Given the description of an element on the screen output the (x, y) to click on. 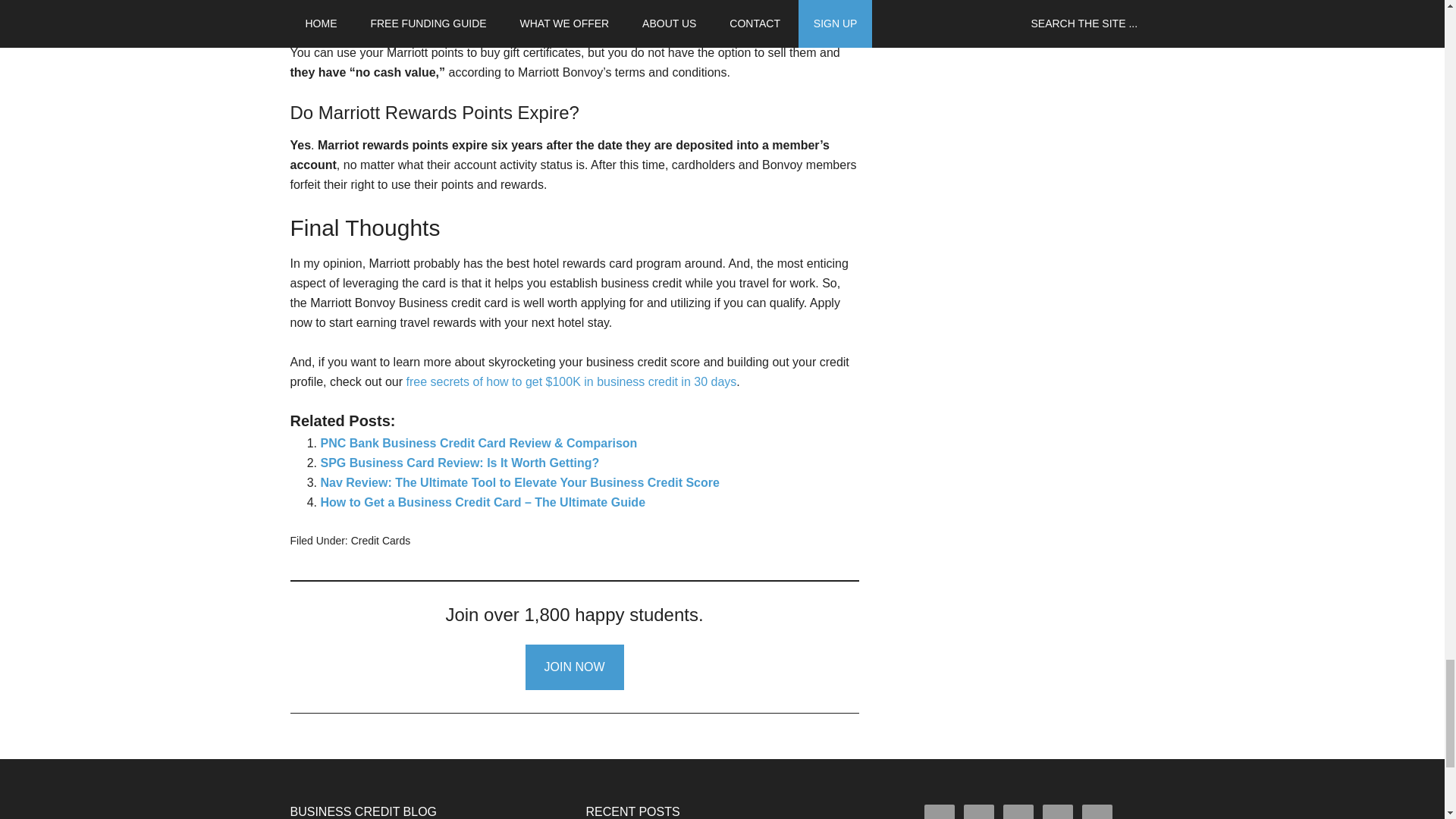
SPG Business Card Review: Is It Worth Getting? (459, 462)
Credit Cards (380, 540)
SPG Business Card Review: Is It Worth Getting? (459, 462)
JOIN NOW (573, 667)
